Given the description of an element on the screen output the (x, y) to click on. 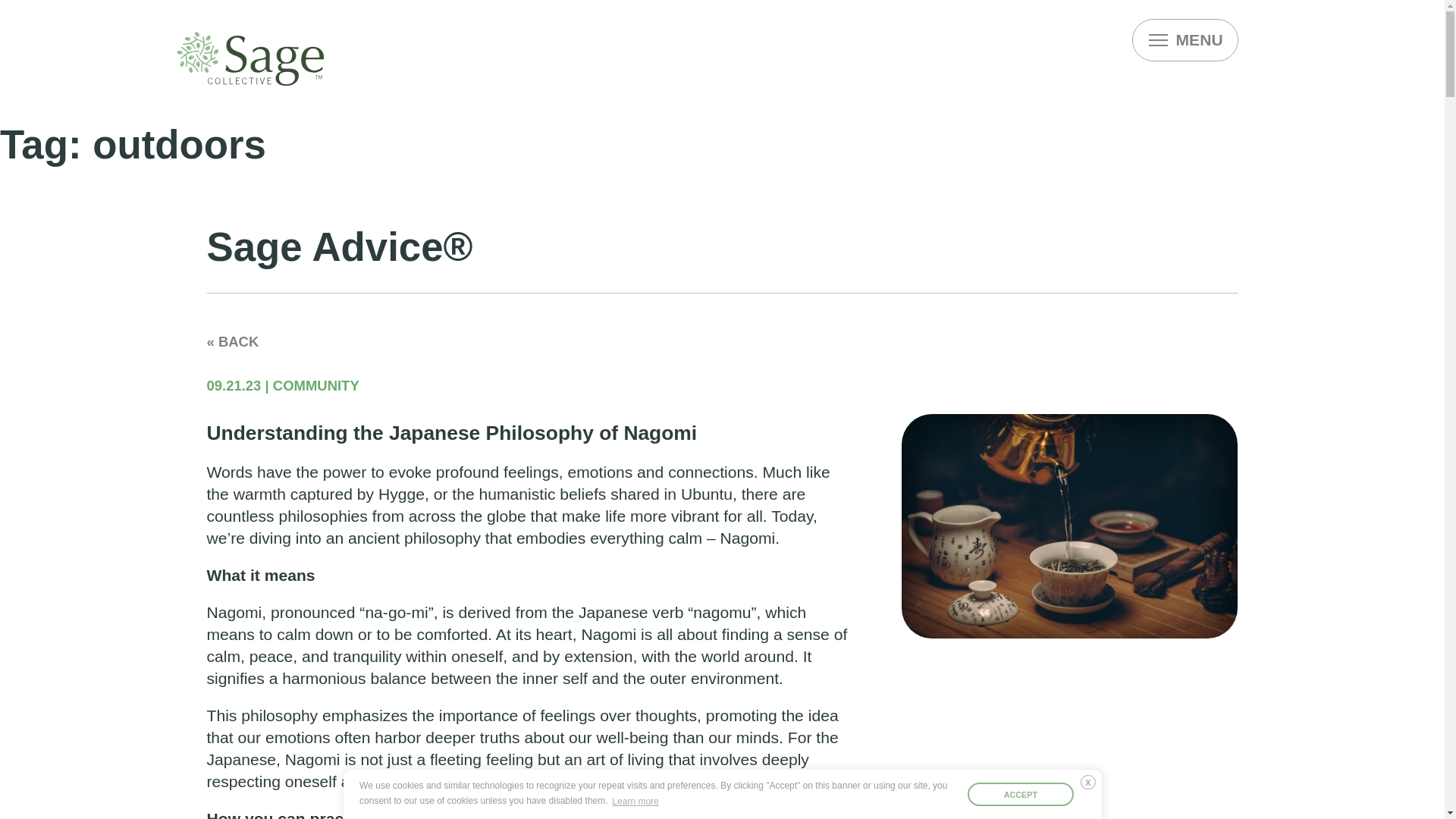
MENU (1184, 39)
Nagomi (234, 611)
Hygge (401, 493)
Ubuntu (706, 493)
